Given the description of an element on the screen output the (x, y) to click on. 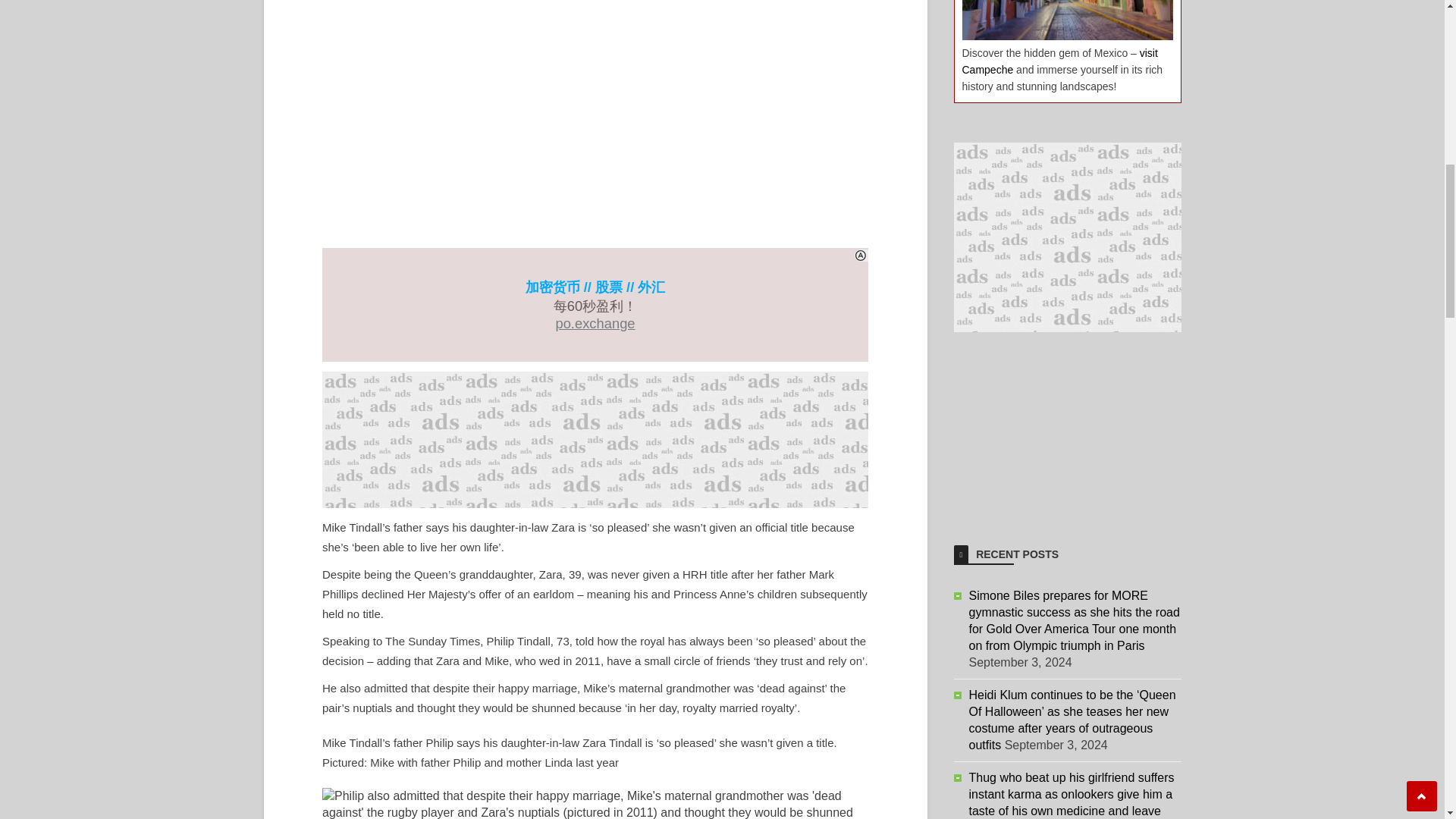
visit Campeche (1058, 61)
